Given the description of an element on the screen output the (x, y) to click on. 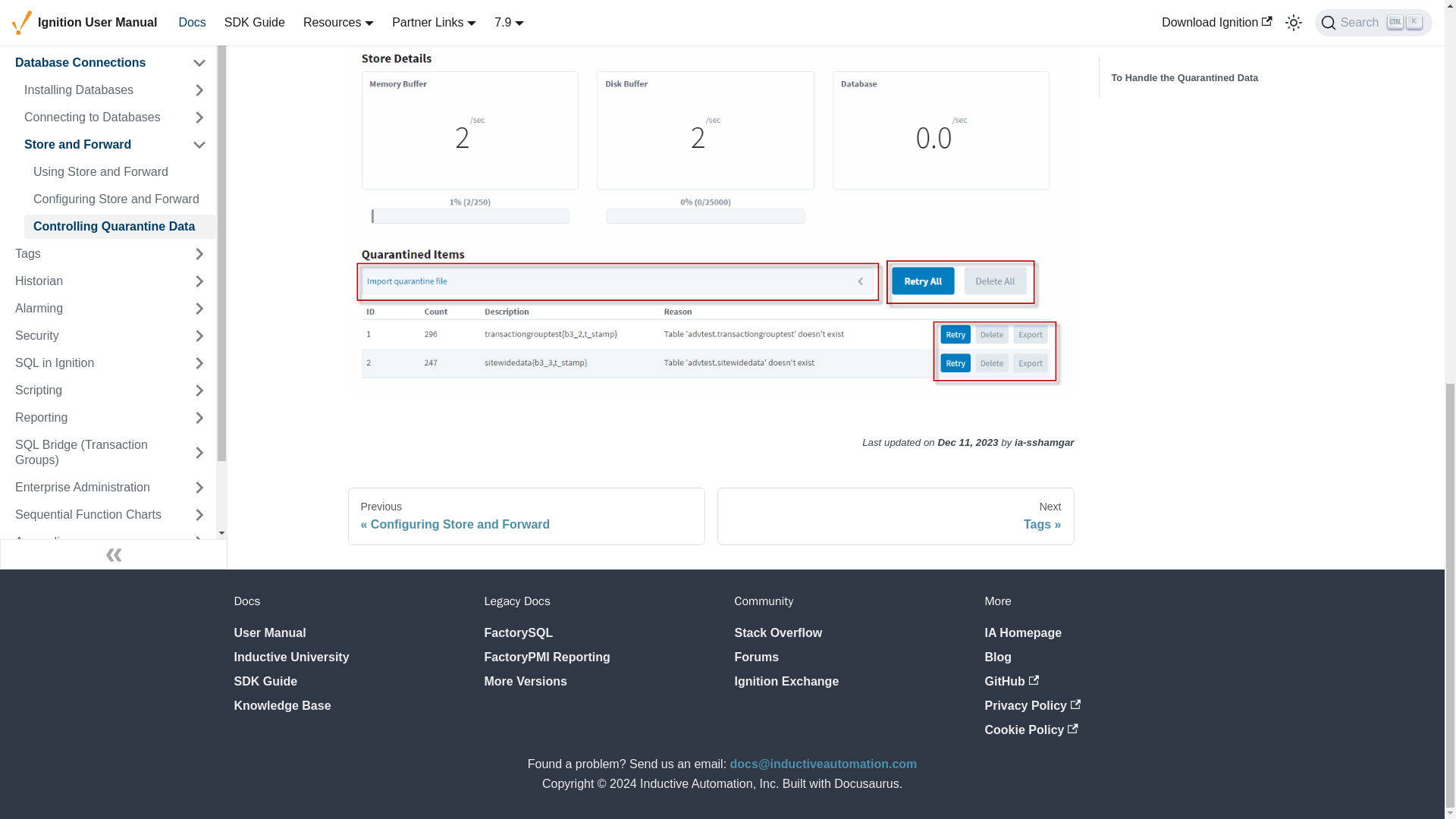
Collapse sidebar (113, 82)
